Given the description of an element on the screen output the (x, y) to click on. 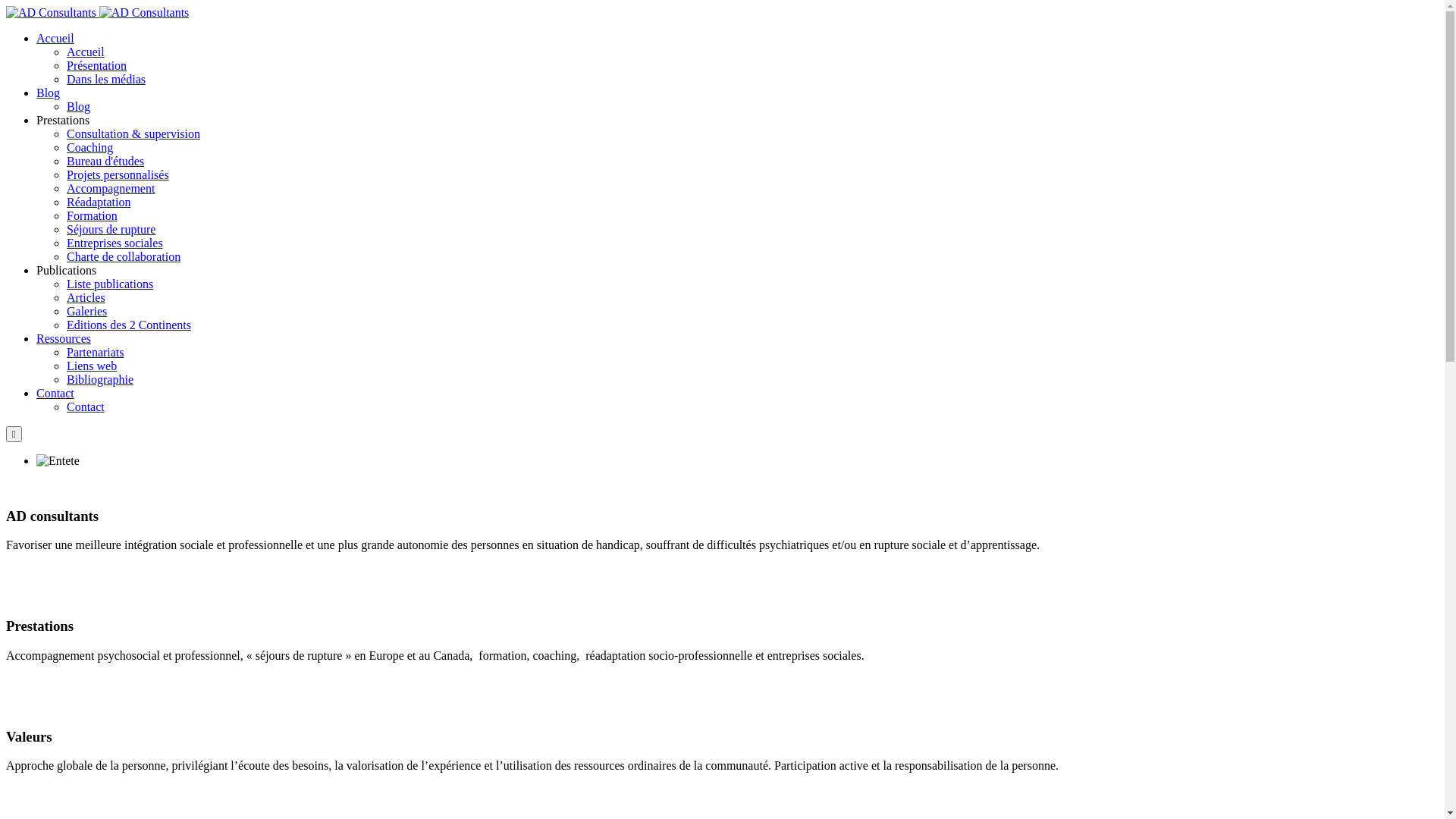
Accueil Element type: text (85, 51)
Ressources Element type: text (63, 338)
Consultation & supervision Element type: text (133, 133)
Contact Element type: text (55, 392)
Charte de collaboration Element type: text (123, 256)
Articles Element type: text (85, 297)
Galeries Element type: text (86, 310)
Liens web Element type: text (91, 365)
Blog Element type: text (47, 92)
Blog Element type: text (78, 106)
Liste publications Element type: text (109, 283)
Contact Element type: text (85, 406)
Entreprises sociales Element type: text (114, 242)
AD Consultants Element type: hover (97, 12)
Accompagnement Element type: text (110, 188)
Coaching Element type: text (89, 147)
Accueil Element type: text (55, 37)
Partenariats Element type: text (95, 351)
Formation Element type: text (91, 215)
Editions des 2 Continents Element type: text (128, 324)
Bibliographie Element type: text (99, 379)
